Given the description of an element on the screen output the (x, y) to click on. 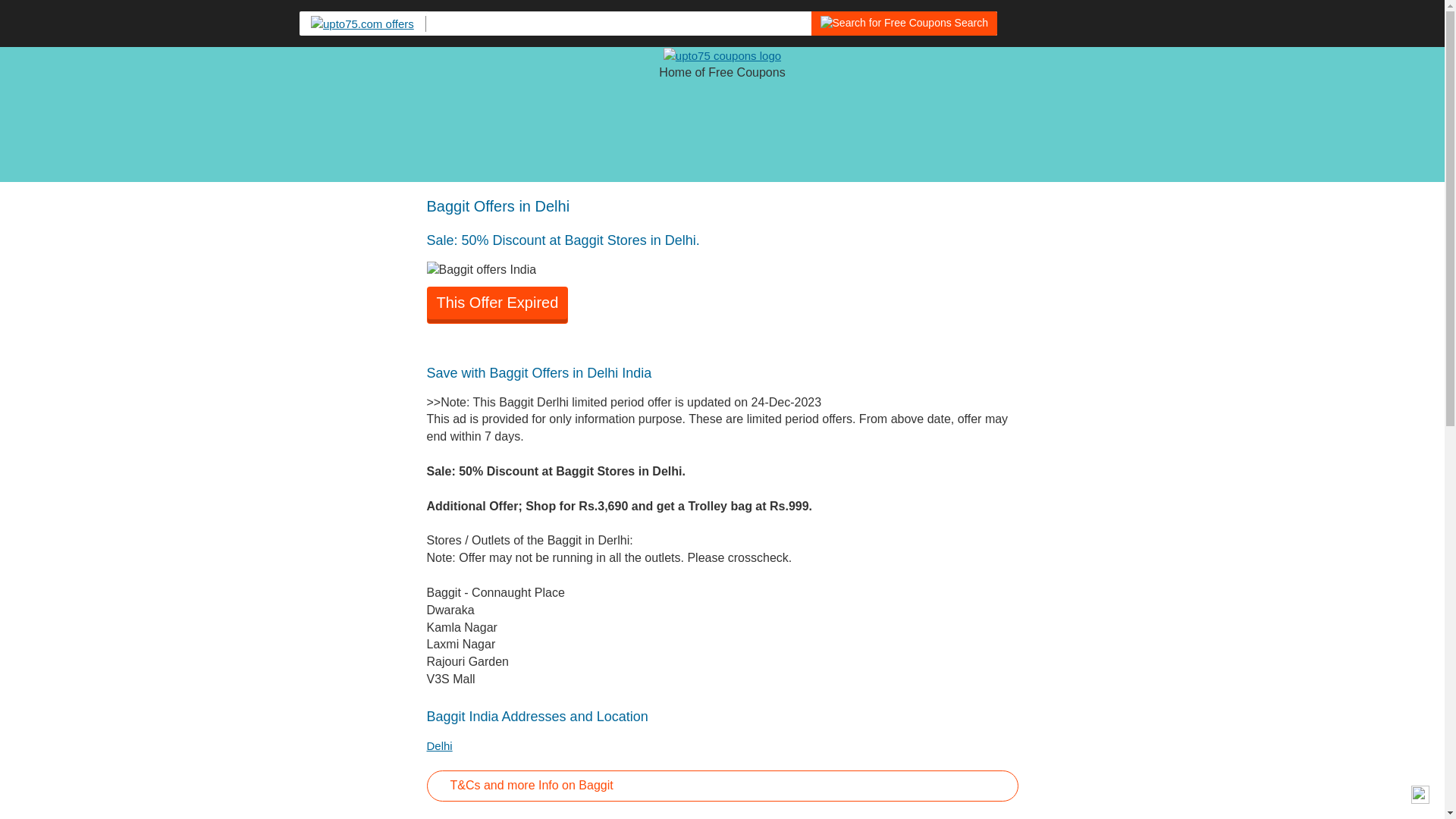
Search (684, 23)
Search (903, 23)
upto75 coupons logo (721, 55)
Search UPto75 offers (886, 23)
upto75.com offers (368, 23)
